Given the description of an element on the screen output the (x, y) to click on. 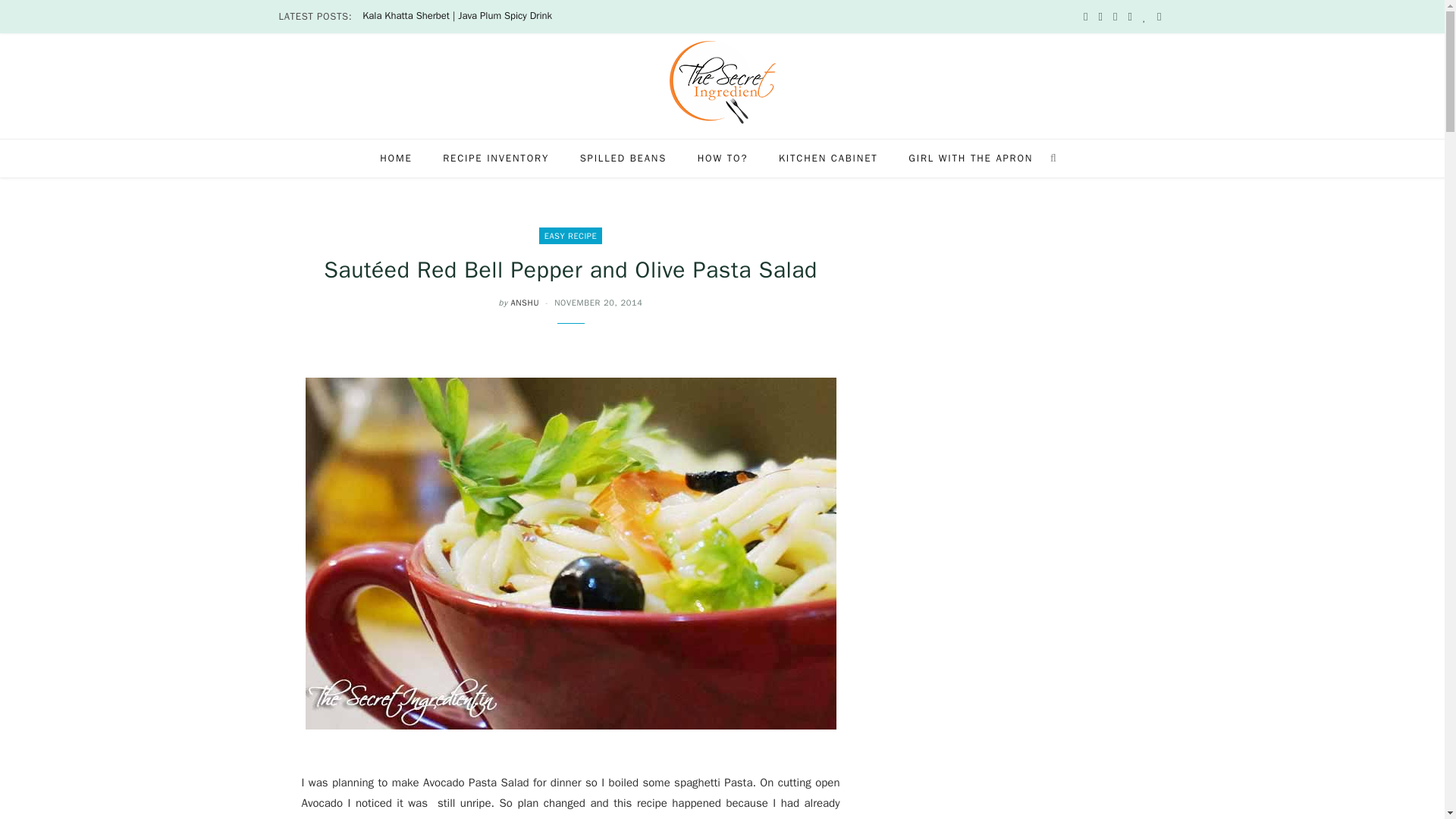
Glossary to unknown (828, 158)
SPILLED BEANS (622, 158)
ANSHU (524, 302)
NOVEMBER 20, 2014 (598, 302)
KITCHEN CABINET (828, 158)
Articles for Better Cooking (622, 158)
Basic Cooking (722, 158)
GIRL WITH THE APRON (970, 158)
RECIPE INVENTORY (495, 158)
EASY RECIPE (570, 235)
